Given the description of an element on the screen output the (x, y) to click on. 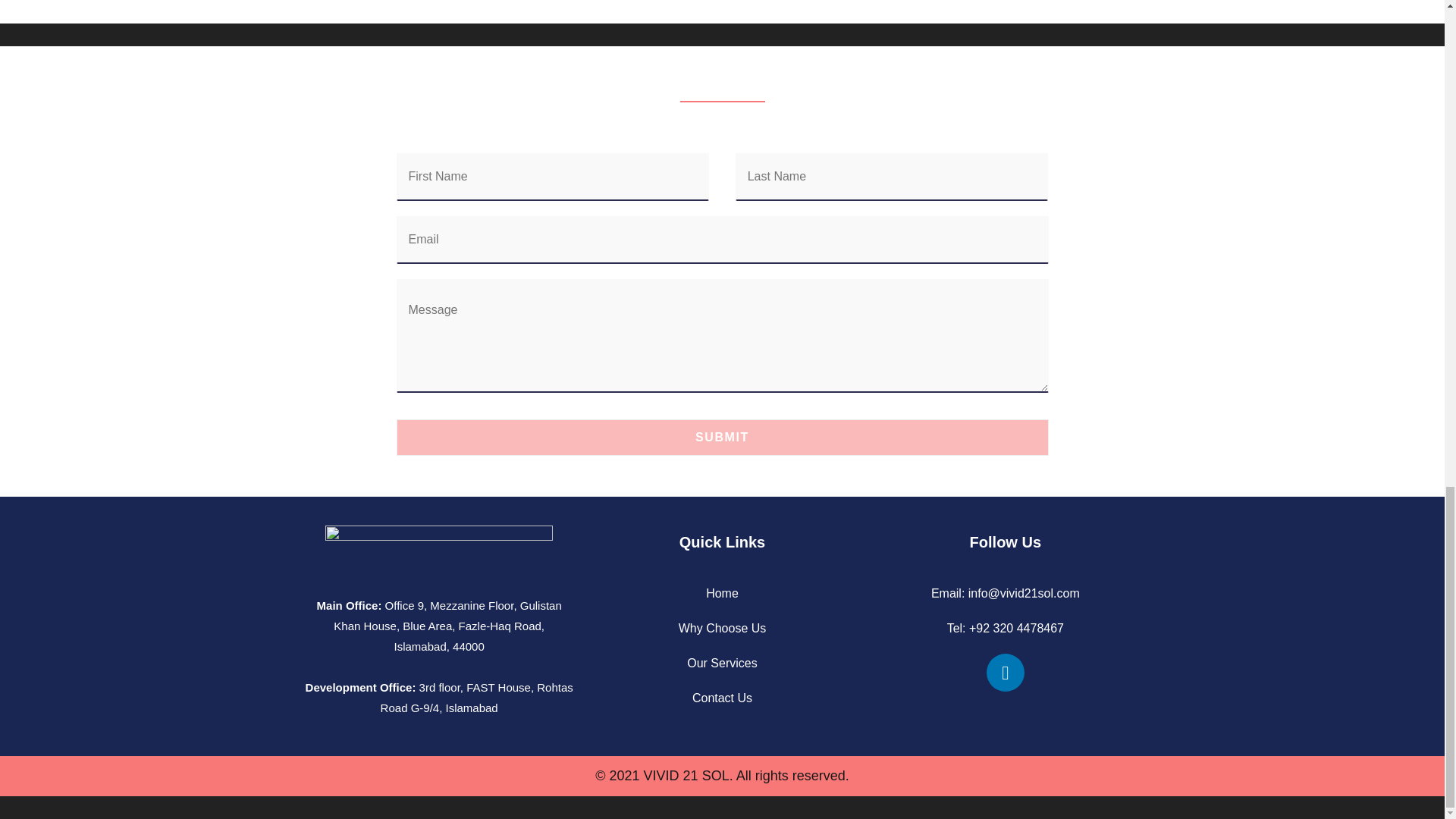
Why Choose Us (722, 627)
SUBMIT (722, 437)
Our Services (722, 662)
Contact Us (722, 697)
Home (722, 593)
